Given the description of an element on the screen output the (x, y) to click on. 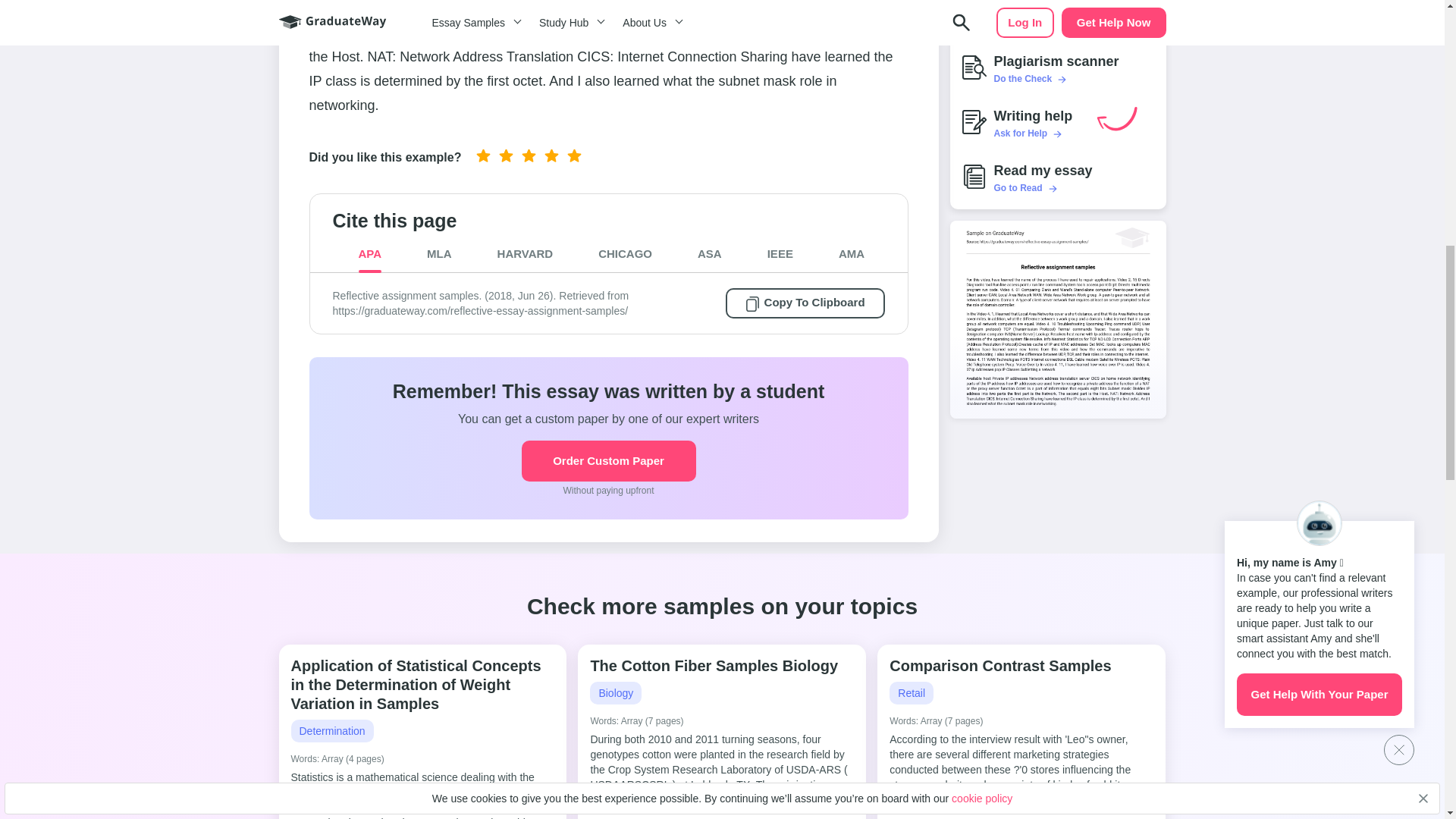
Reflective assignment samples (1057, 319)
